Given the description of an element on the screen output the (x, y) to click on. 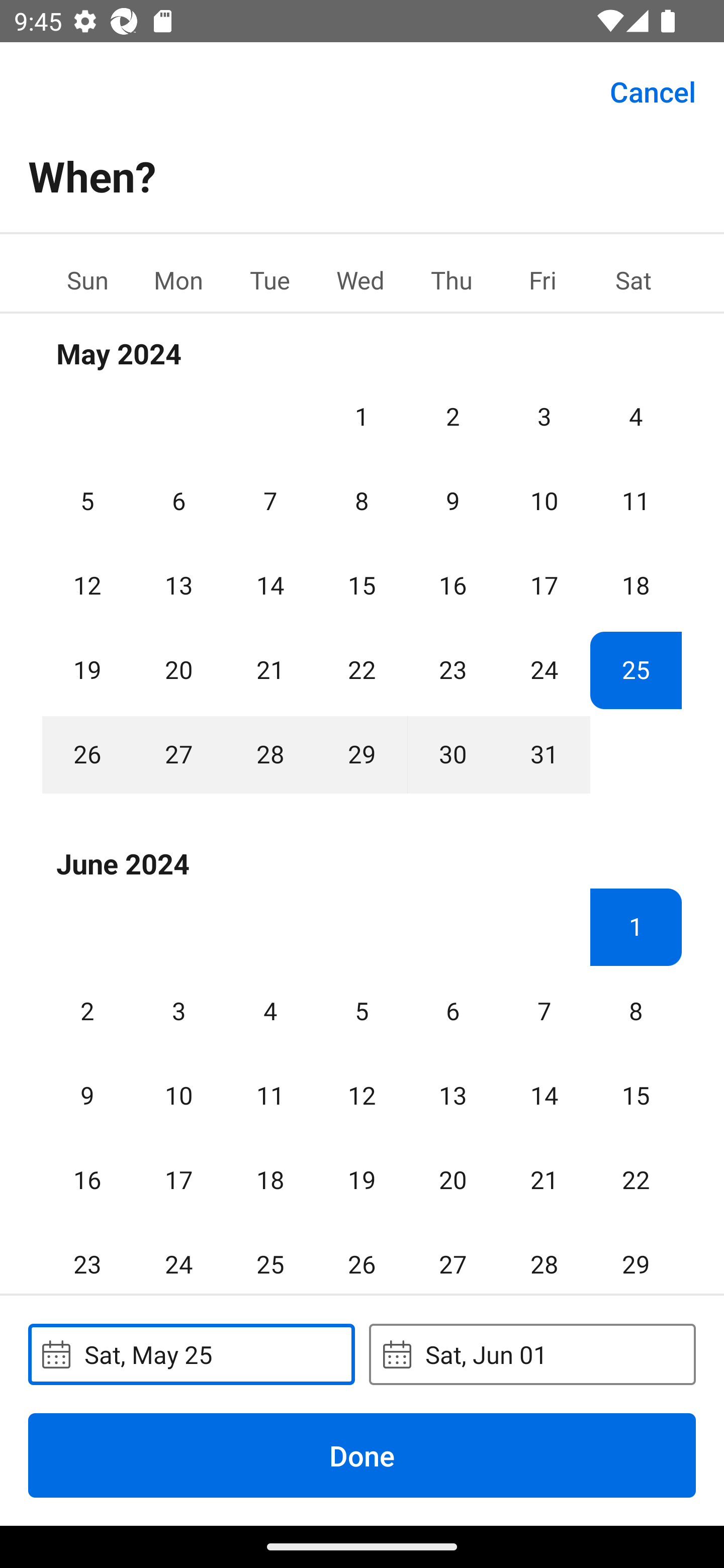
Cancel (652, 90)
Sat, May 25 (191, 1353)
Sat, Jun 01 (532, 1353)
Done (361, 1454)
